Given the description of an element on the screen output the (x, y) to click on. 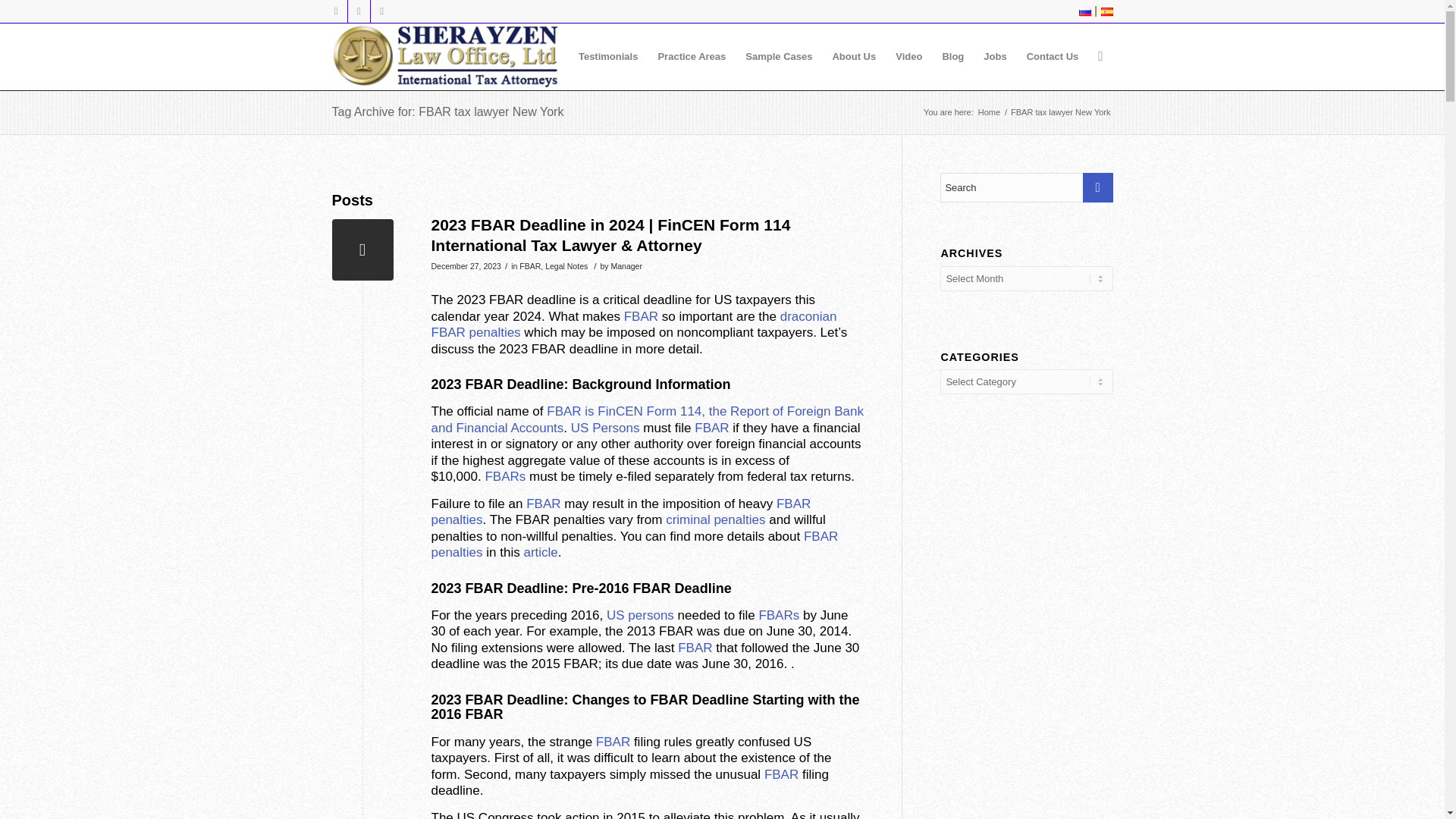
About Us (853, 56)
Posts by Manager (626, 266)
FBAR (711, 427)
Testimonials (608, 56)
Legal Notes (566, 266)
FBAR penalties (620, 511)
criminal penalties (715, 519)
Permanent Link: Tag Archive for: FBAR tax lawyer New York (447, 111)
Facebook (381, 11)
Practice Areas (691, 56)
FBAR (529, 266)
Twitter (335, 11)
FBAR (641, 316)
Sample Cases (778, 56)
Contact Us (1052, 56)
